Given the description of an element on the screen output the (x, y) to click on. 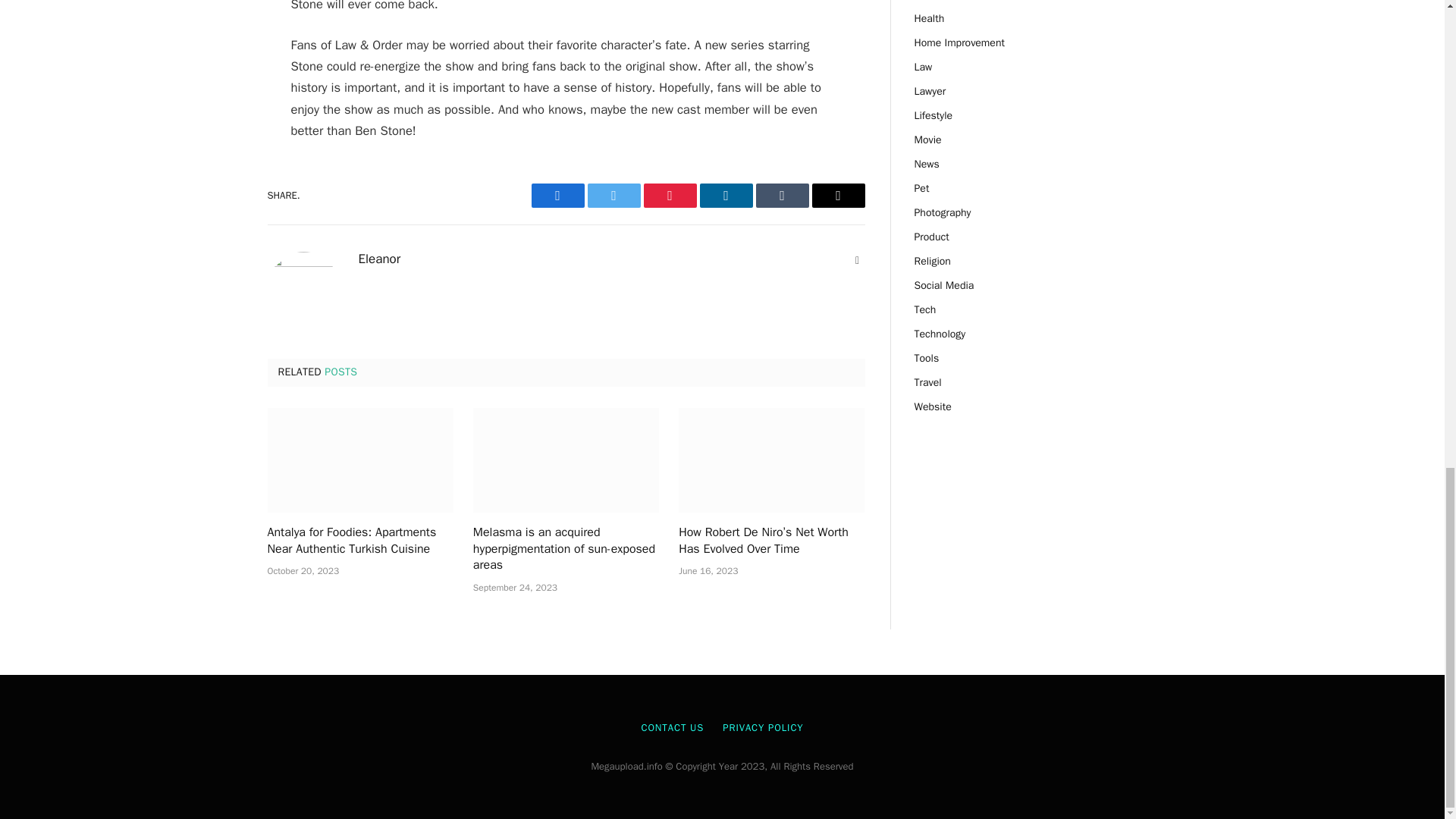
Pinterest (669, 195)
Twitter (613, 195)
Facebook (557, 195)
